Given the description of an element on the screen output the (x, y) to click on. 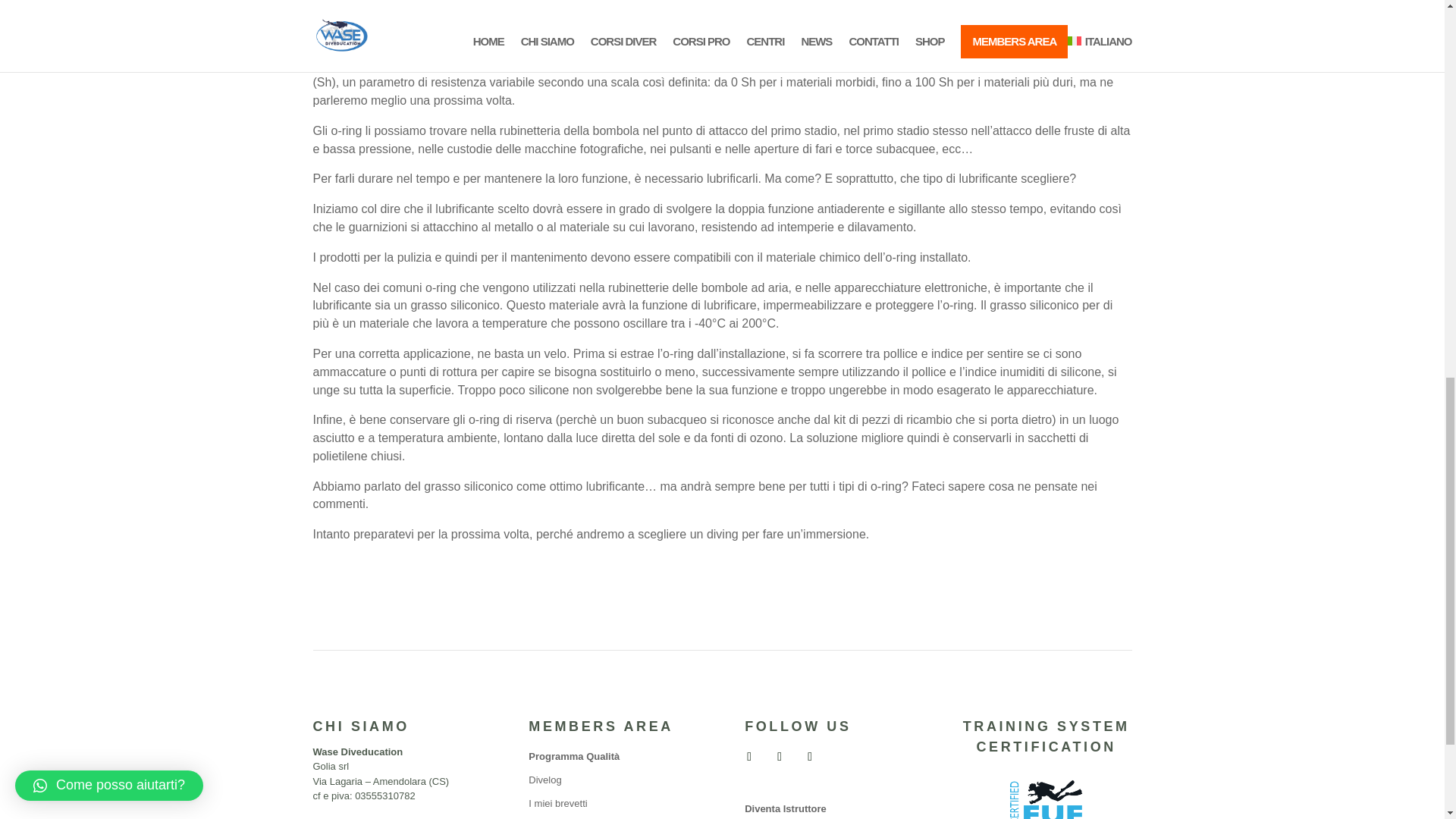
I miei brevetti (557, 803)
Follow on Youtube (809, 756)
Divelog (544, 779)
logo (1045, 784)
Diventa Istruttore (785, 808)
Follow on Facebook (748, 756)
Follow on Instagram (779, 756)
